Given the description of an element on the screen output the (x, y) to click on. 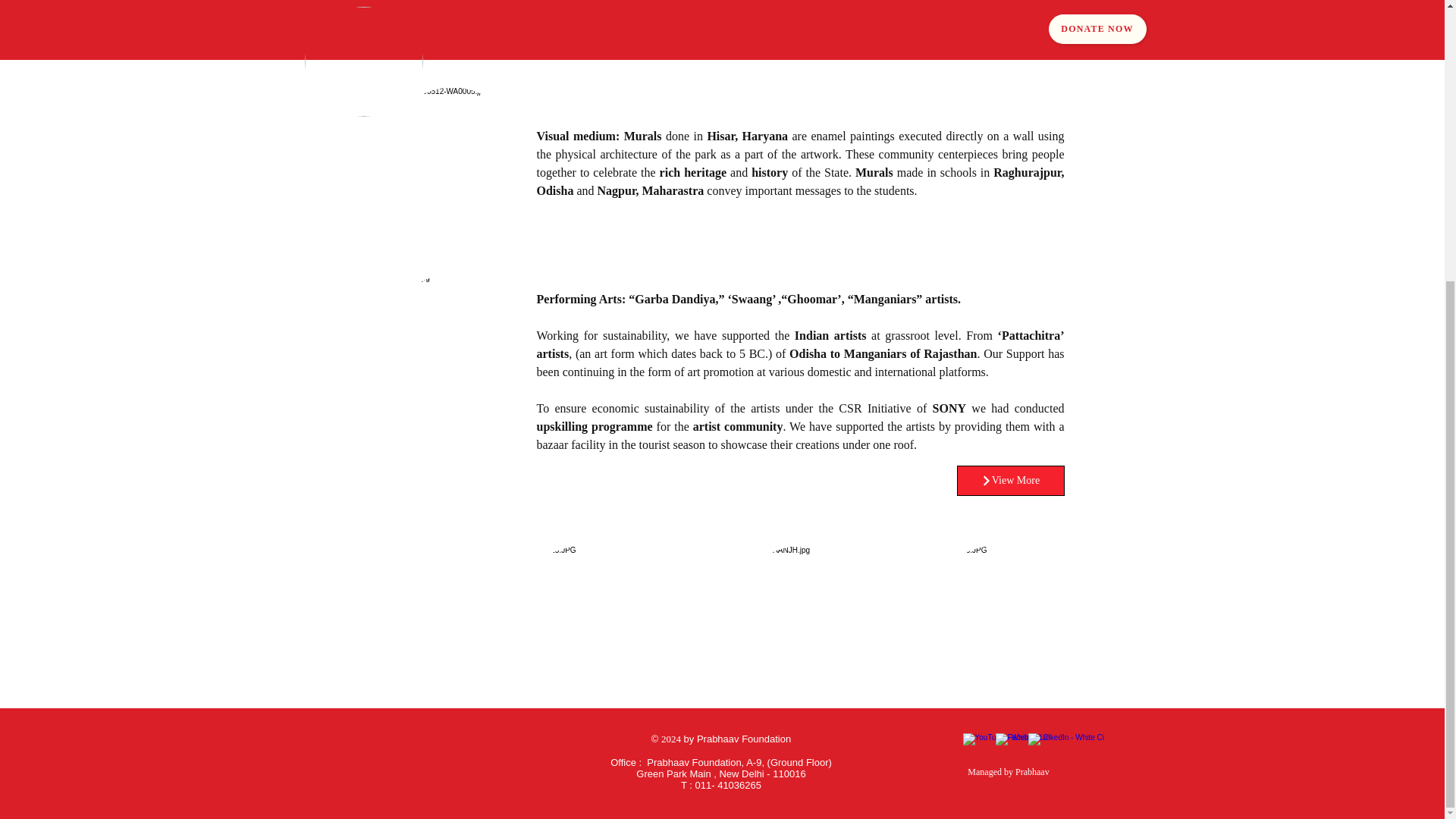
GettyImages-124893619.jpg (992, 622)
GettyImages-124893619.jpg (451, 9)
GettyImages-124893619.jpg (451, 162)
GettyImages-124893619.jpg (451, 349)
Managed by Prabhaav (1008, 771)
GettyImages-124893619.jpg (579, 622)
View More (1010, 481)
GettyImages-124893619.jpg (799, 622)
